Given the description of an element on the screen output the (x, y) to click on. 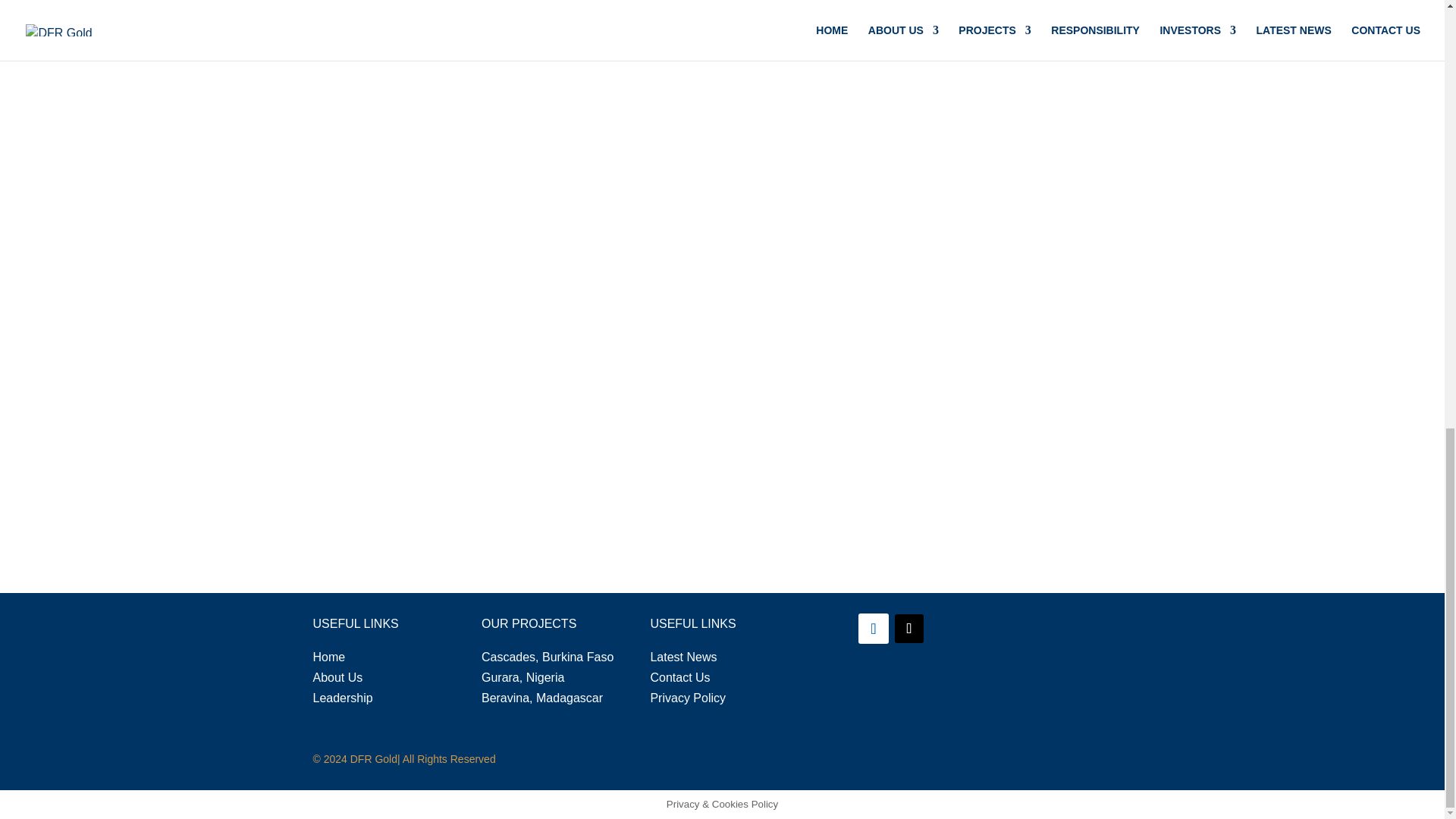
Follow on X (909, 628)
Home (329, 656)
Latest News (682, 656)
Follow on LinkedIn (873, 628)
Cascades, Burkina Faso (546, 656)
Leadership (342, 697)
cropped-A-new-West-African-Gold-Explorer-Diamond-Fields.png (1059, 682)
Gurara, Nigeria (522, 676)
Privacy Policy (687, 697)
About Us (337, 676)
Beravina, Madagascar (541, 697)
Contact Us (679, 676)
